Given the description of an element on the screen output the (x, y) to click on. 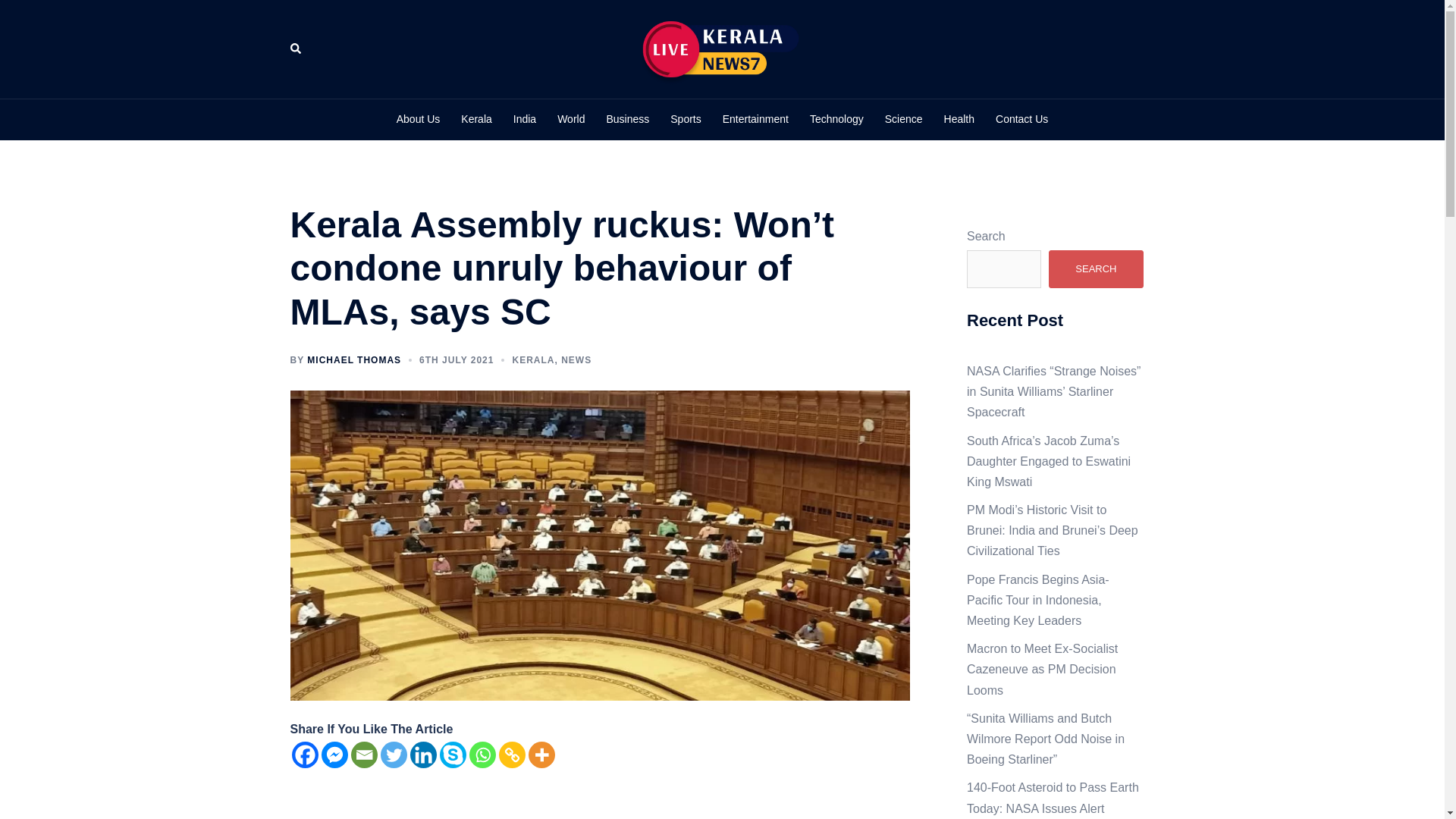
MICHAEL THOMAS (354, 359)
About Us (418, 119)
Twitter (393, 755)
Health (958, 119)
Copy Link (512, 755)
KERALA (533, 359)
NEWS (575, 359)
Whatsapp (481, 755)
More (540, 755)
Kerala News7 (721, 47)
